Given the description of an element on the screen output the (x, y) to click on. 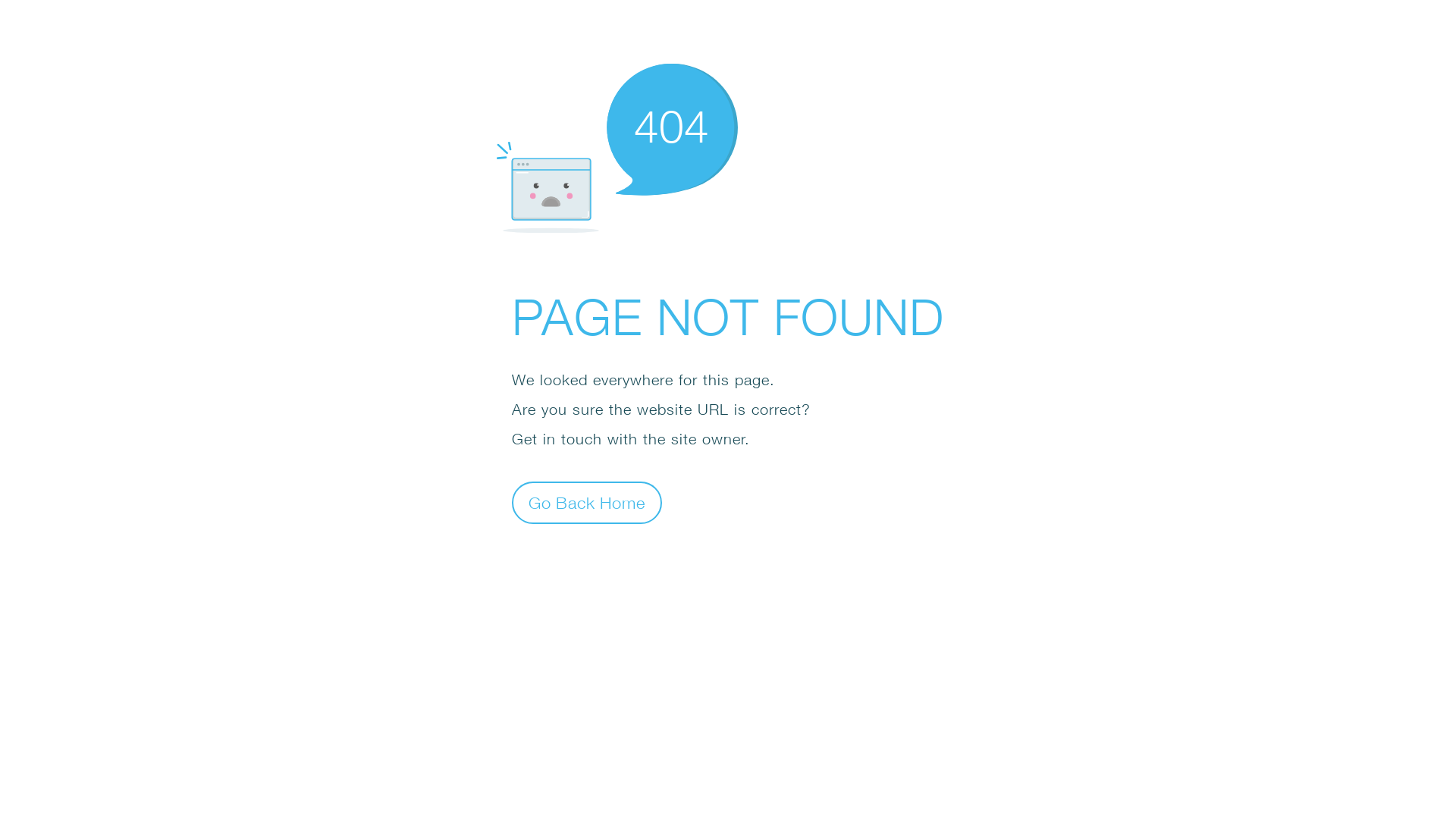
Go Back Home Element type: text (586, 502)
